Given the description of an element on the screen output the (x, y) to click on. 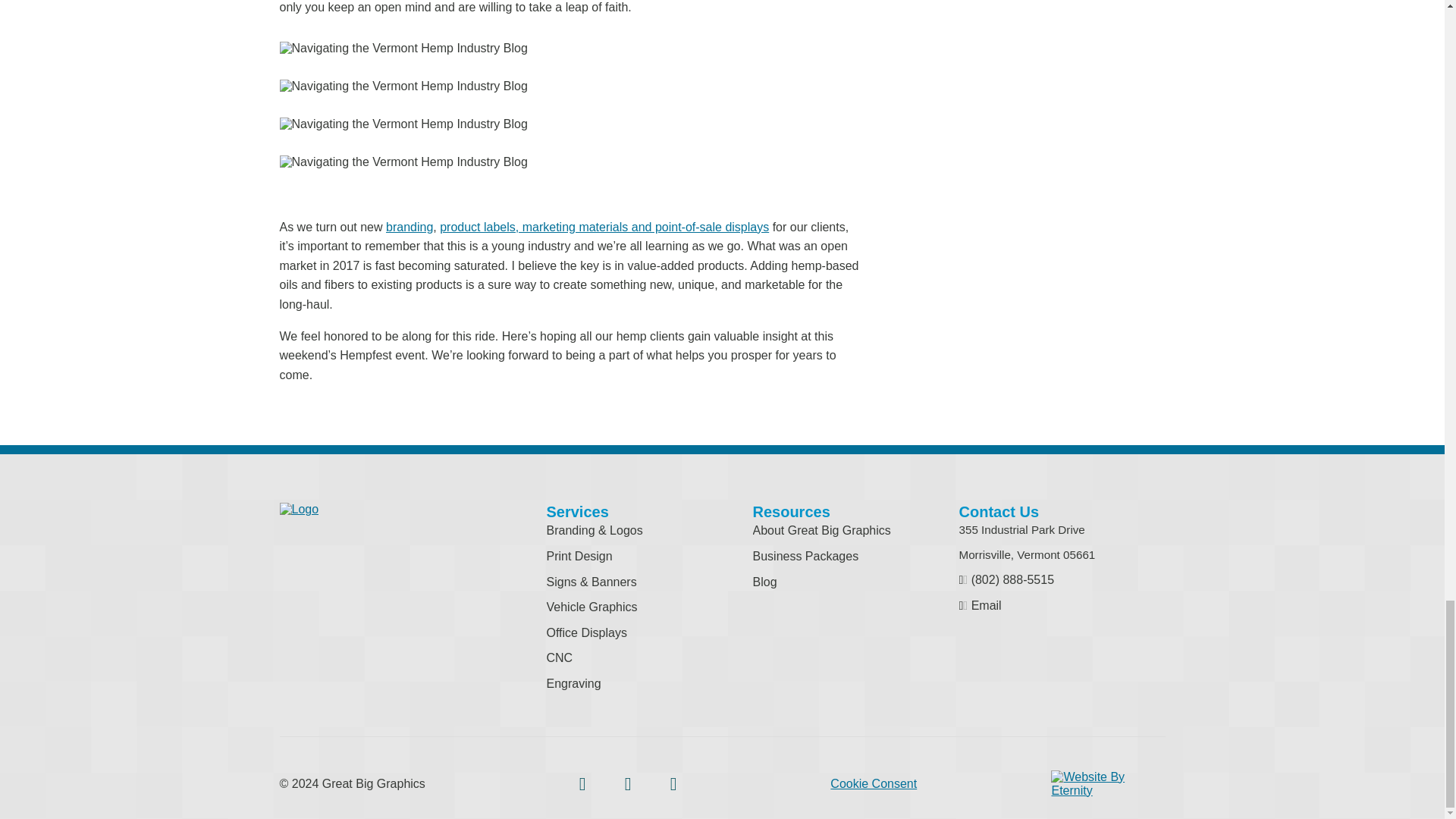
branding (408, 226)
Return Home (298, 509)
Print Design (578, 555)
Find us on LinkedIn (673, 783)
Follow us on Instagram (628, 783)
Find us on Facebook (581, 783)
